Given the description of an element on the screen output the (x, y) to click on. 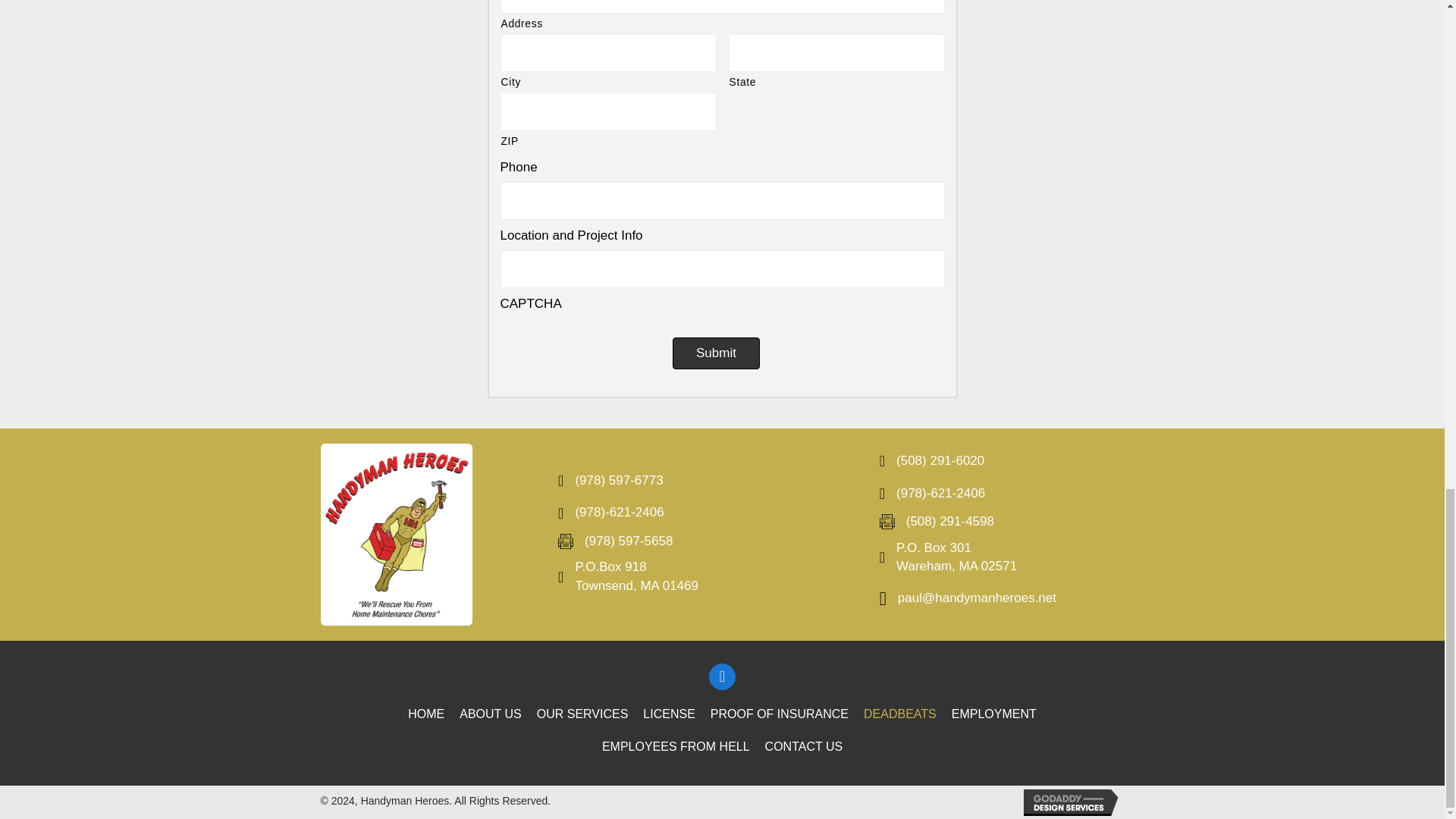
ABOUT US (490, 713)
CONTACT US (803, 746)
HOME (425, 713)
fax (887, 521)
Handyman Heroes, Inc (395, 534)
LICENSE (667, 713)
Submit (716, 353)
OUR SERVICES (582, 713)
PROOF OF INSURANCE (779, 713)
fax (565, 540)
DEADBEATS (899, 713)
EMPLOYMENT (993, 713)
EMPLOYEES FROM HELL (675, 746)
Submit (716, 353)
